Given the description of an element on the screen output the (x, y) to click on. 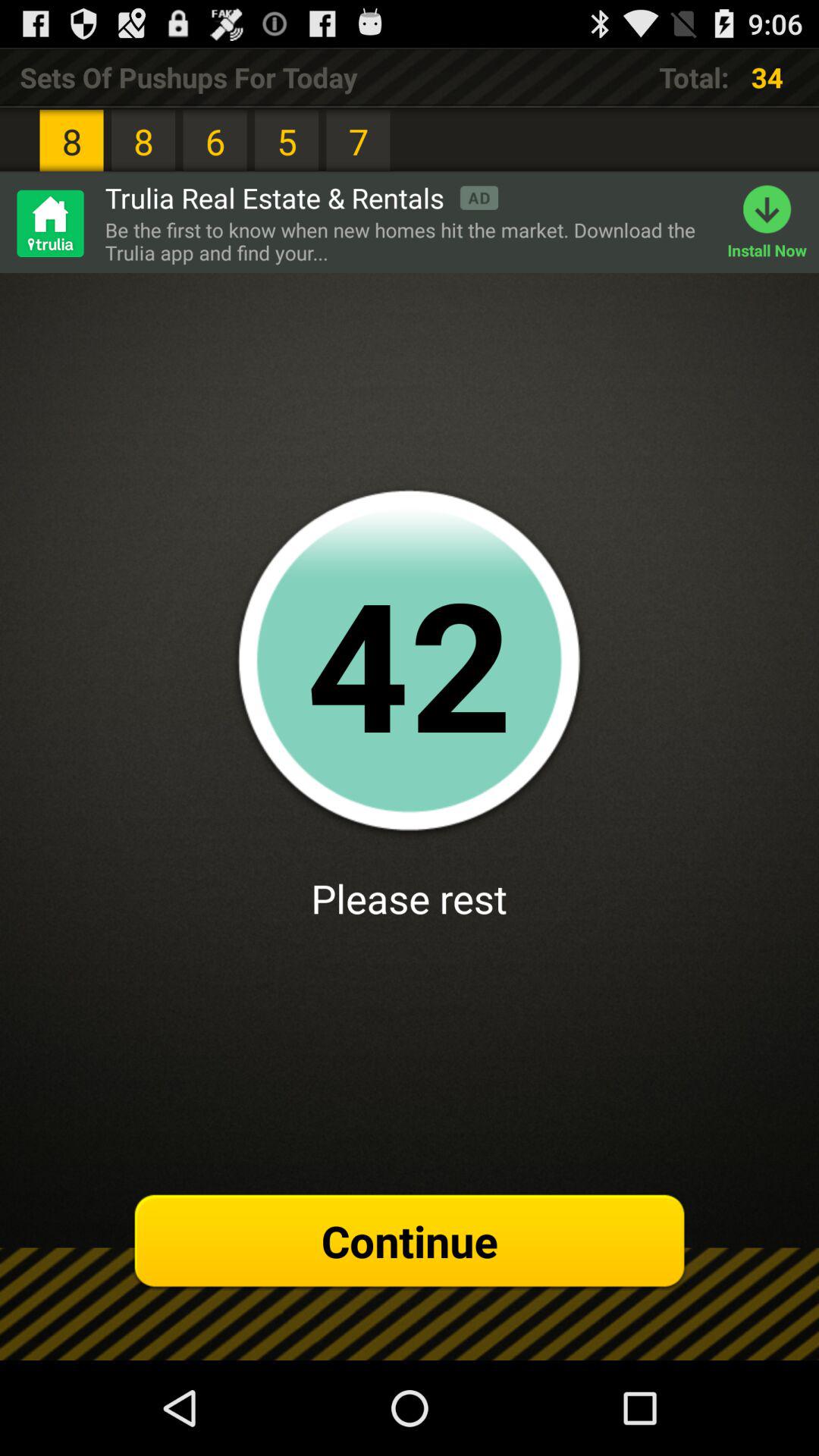
turn on the icon below the 8 icon (301, 197)
